Given the description of an element on the screen output the (x, y) to click on. 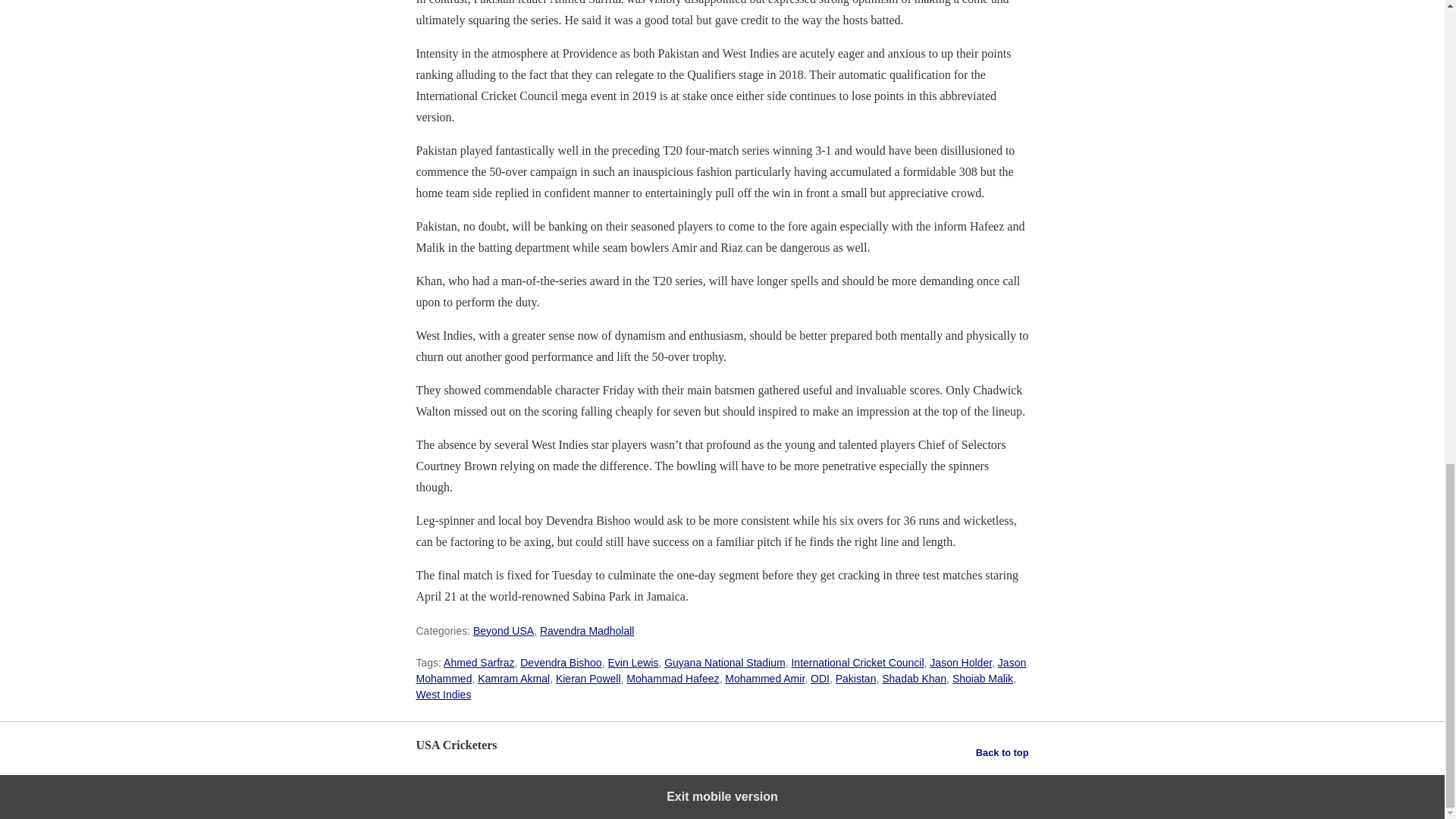
Jason Holder (960, 662)
Evin Lewis (632, 662)
Back to top (1002, 752)
Mohammed Amir (765, 678)
Kamram Akmal (513, 678)
Kieran Powell (588, 678)
Ravendra Madholall (587, 630)
Mohammad Hafeez (672, 678)
Devendra Bishoo (560, 662)
Ahmed Sarfraz (478, 662)
